Given the description of an element on the screen output the (x, y) to click on. 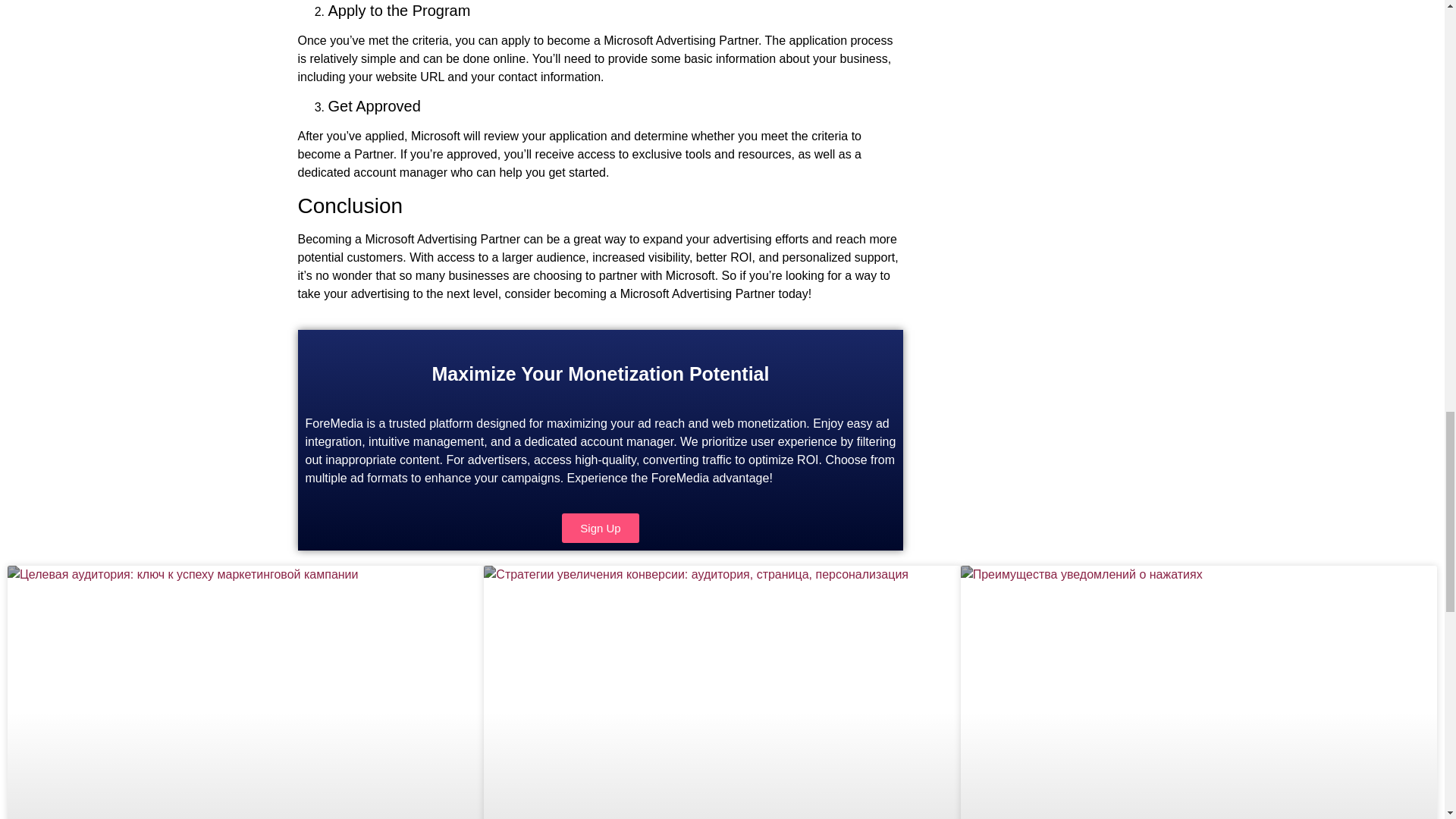
Sign Up (600, 527)
